Given the description of an element on the screen output the (x, y) to click on. 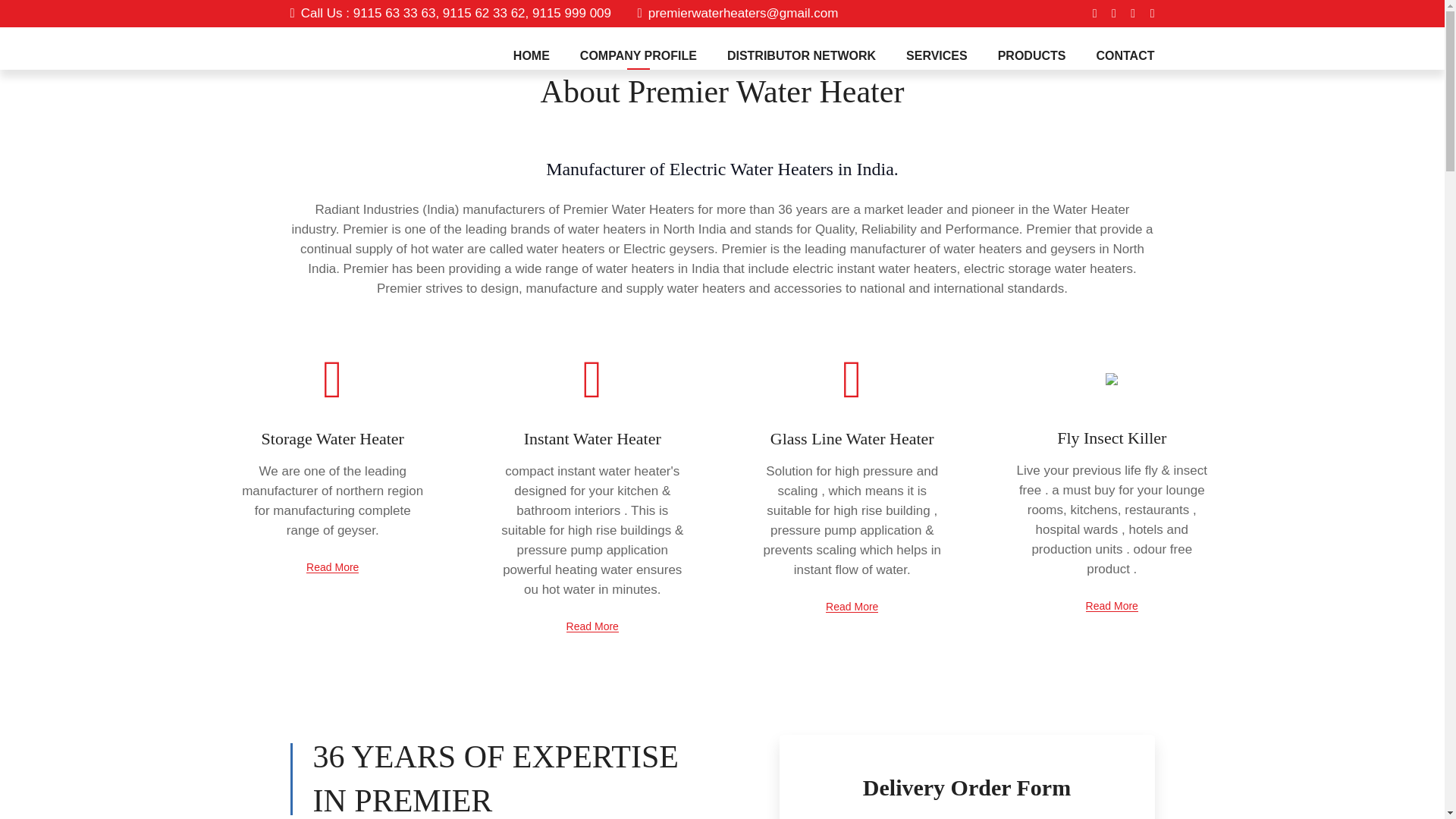
Read More (592, 626)
Read More (1112, 605)
SERVICES (936, 56)
COMPANY PROFILE (638, 56)
PRODUCTS (1031, 56)
9115 63 33 63, 9115 62 33 62, 9115 999 009 (482, 12)
Read More (331, 567)
DISTRIBUTOR NETWORK (801, 56)
HOME (531, 56)
Instant Water Heater (592, 438)
